Given the description of an element on the screen output the (x, y) to click on. 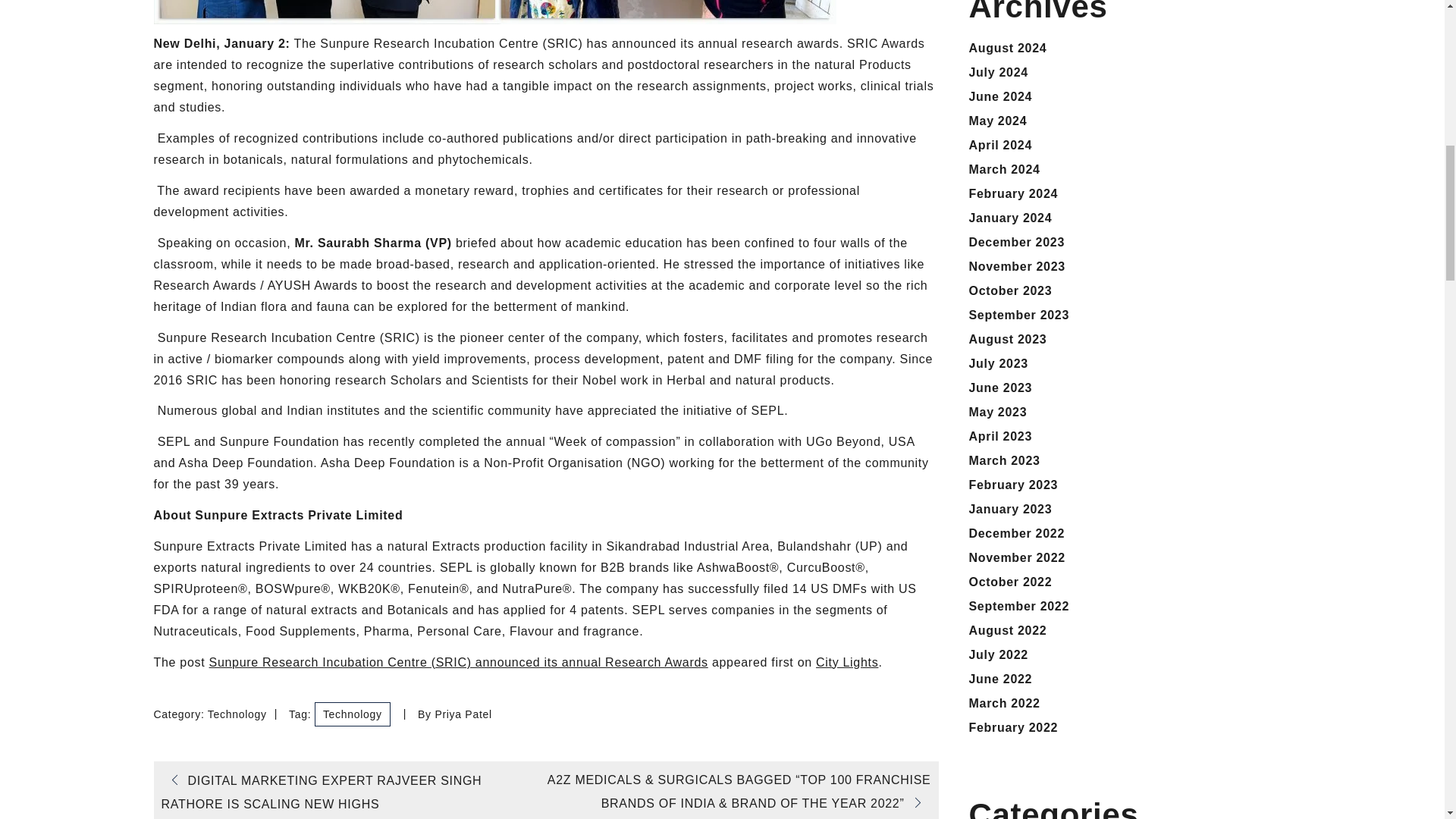
City Lights (846, 662)
Priya Patel (462, 714)
Technology (352, 713)
Technology (237, 714)
